Given the description of an element on the screen output the (x, y) to click on. 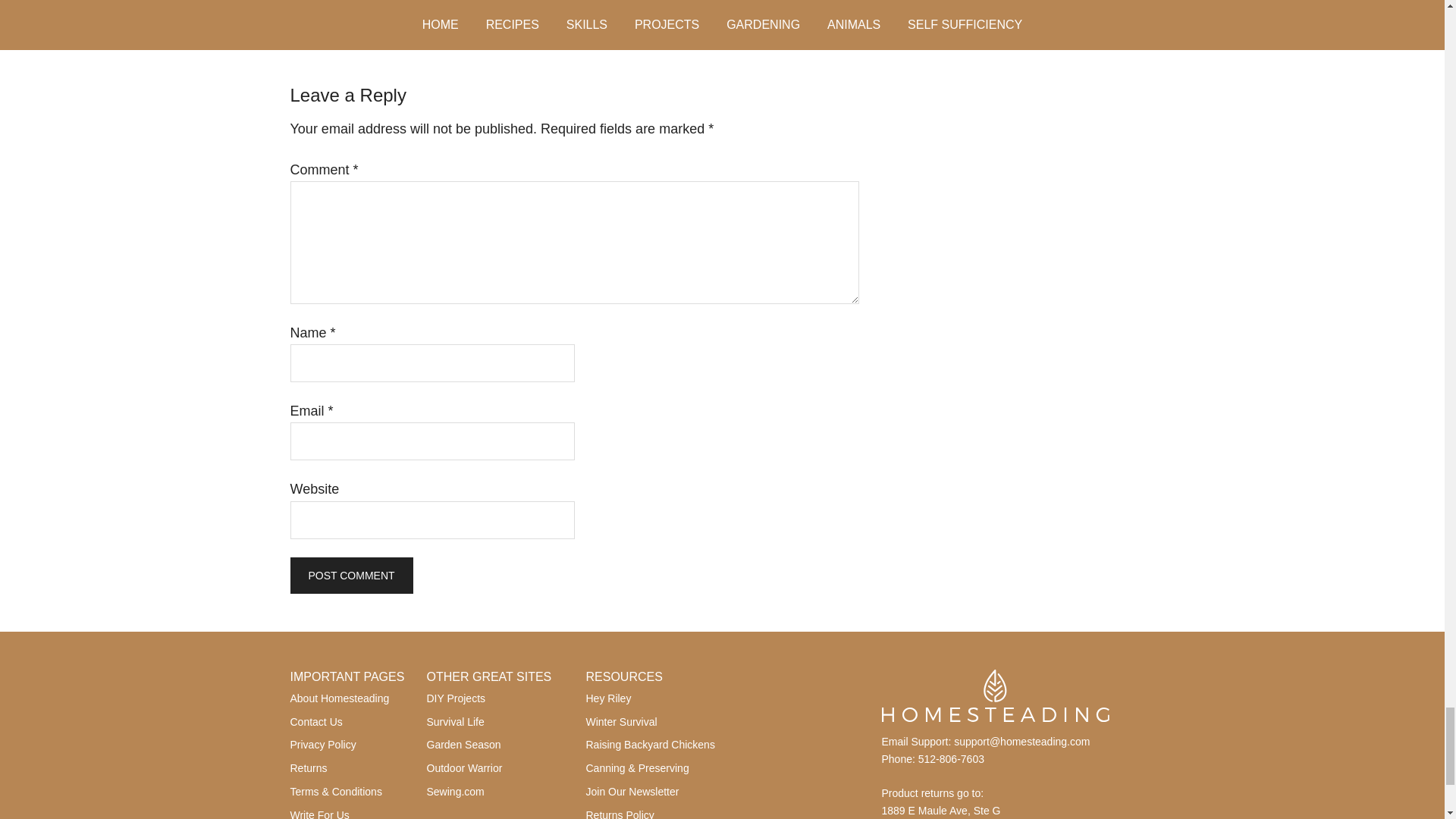
Post Comment (350, 575)
